Given the description of an element on the screen output the (x, y) to click on. 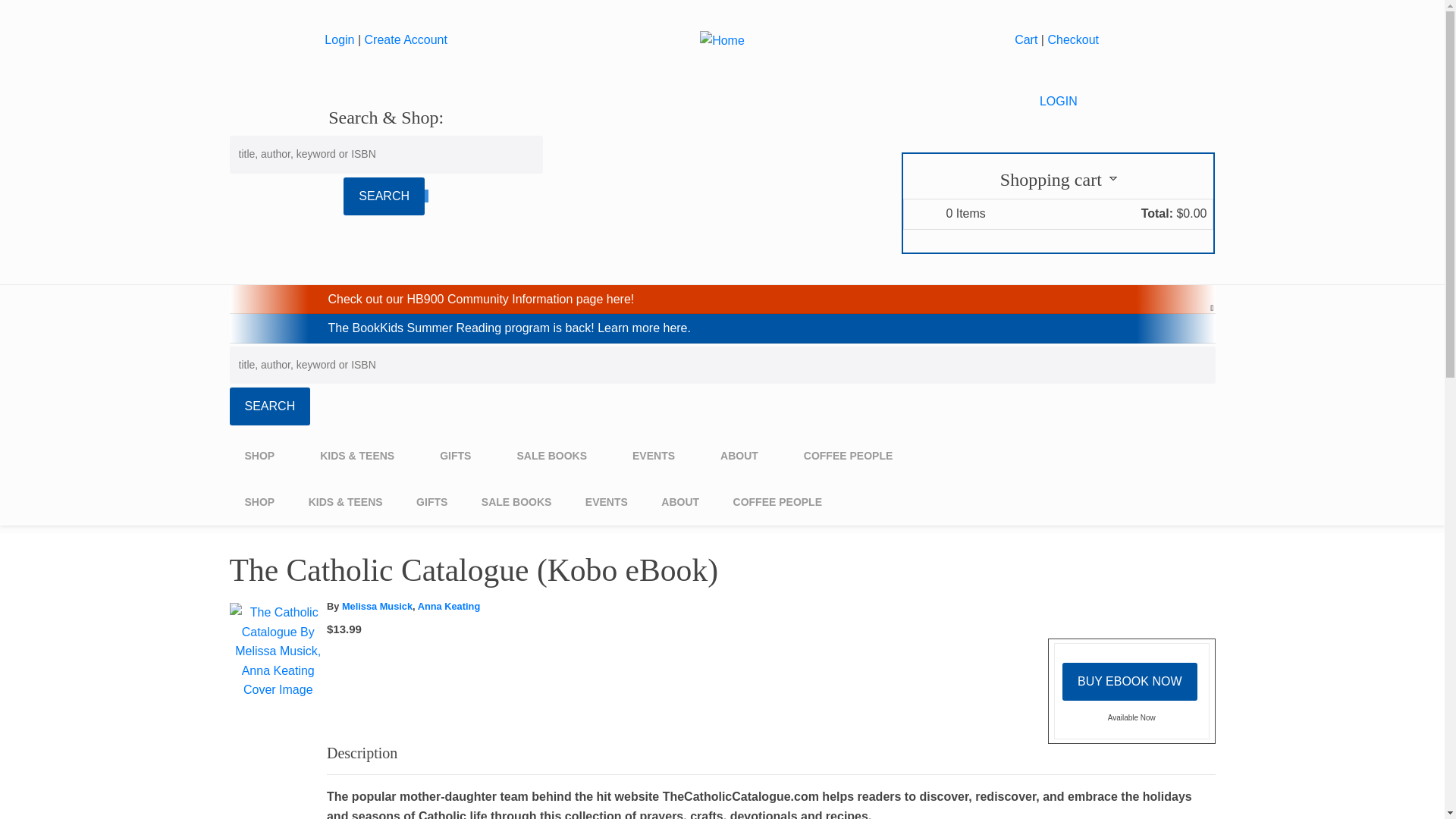
Login (338, 39)
Check out our HB900 Community Information page here! (480, 298)
SHOP (266, 456)
Search (269, 406)
LOGIN (1058, 101)
Enter the terms you wish to search for. (384, 154)
Create Account (405, 39)
Search (384, 196)
Home (722, 39)
Checkout  (1074, 39)
Buy eBook Now (1129, 681)
Enter the terms you wish to search for. (721, 365)
Search (384, 196)
Cart (1025, 39)
